Given the description of an element on the screen output the (x, y) to click on. 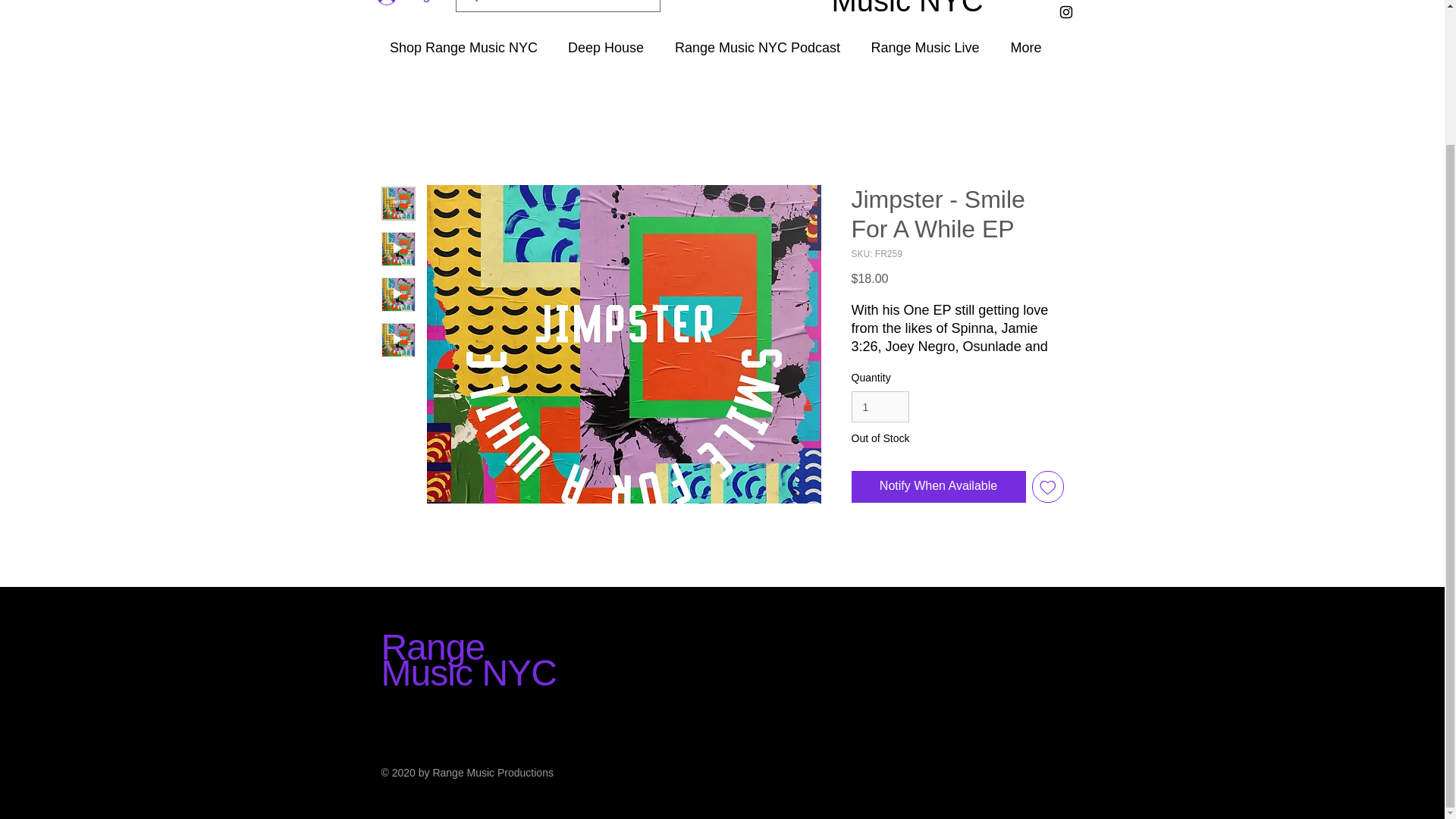
Shop Range Music NYC (462, 48)
Range Music Live (925, 48)
Music NYC (920, 12)
Log In (410, 4)
Do Not Sell My Personal Information (951, 607)
Range Music NYC Podcast (757, 48)
Notify When Available (937, 486)
Deep House (605, 48)
1 (879, 406)
